Given the description of an element on the screen output the (x, y) to click on. 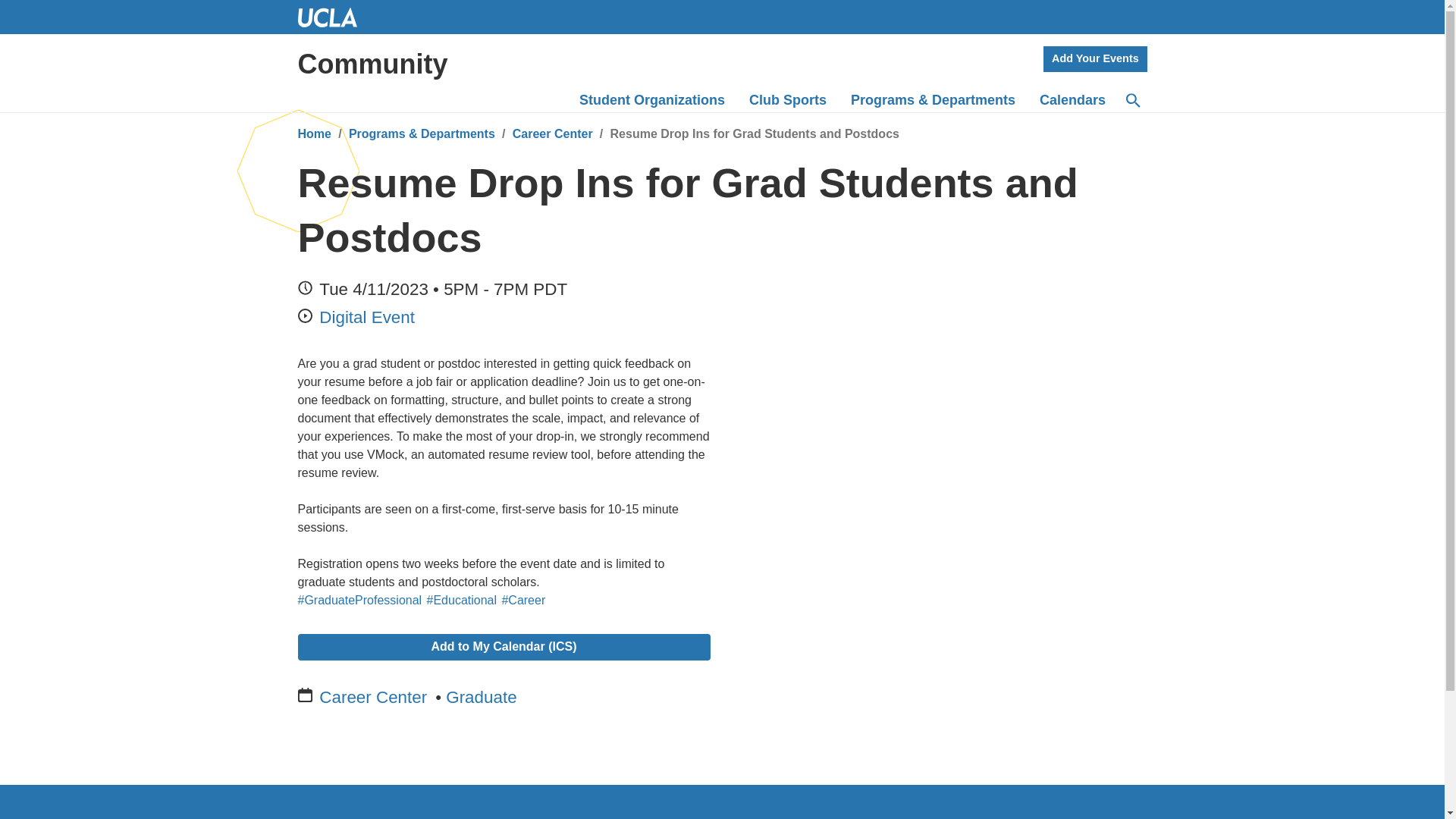
Digital Event (366, 316)
Add Your Events (1095, 58)
Calendars (1072, 100)
Home (313, 133)
Time (304, 287)
Career Center (552, 133)
Search (1132, 100)
UCLA (333, 17)
Community (371, 63)
Student Organizations (651, 100)
Career Center (372, 696)
Club Sports (787, 100)
Search (1132, 100)
Graduate (480, 696)
